Given the description of an element on the screen output the (x, y) to click on. 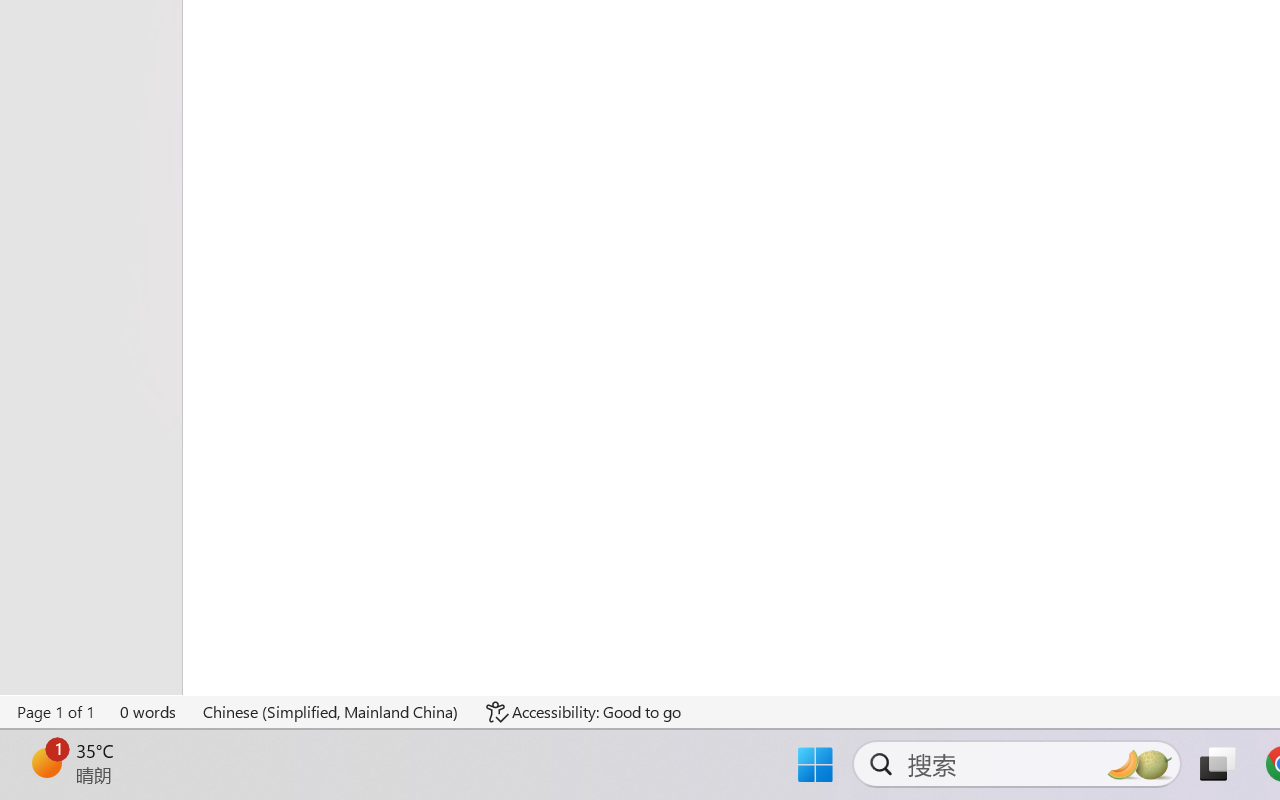
Language Chinese (Simplified, Mainland China) (331, 712)
